Given the description of an element on the screen output the (x, y) to click on. 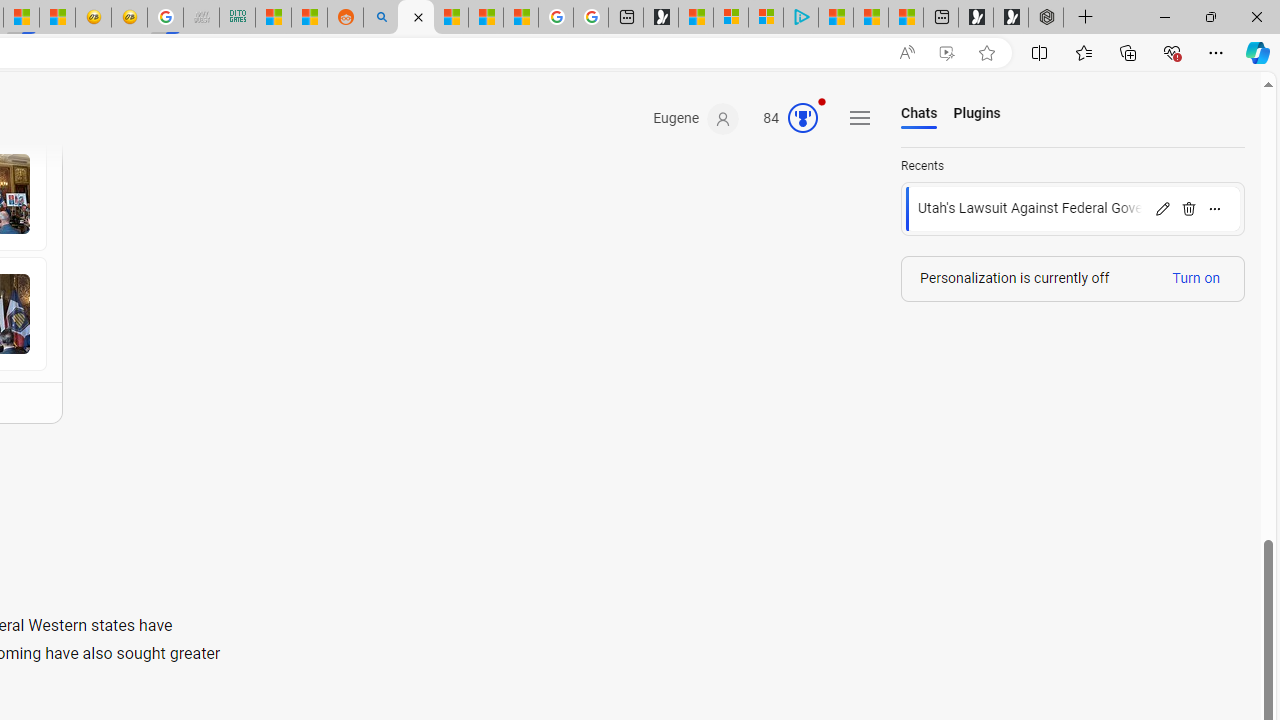
Animation (821, 101)
Turn on (1196, 278)
Rename (1162, 208)
AutomationID: serp_medal_svg (803, 117)
Enhance video (946, 53)
Microsoft Copilot in Bing (415, 17)
Delete (1188, 208)
